Given the description of an element on the screen output the (x, y) to click on. 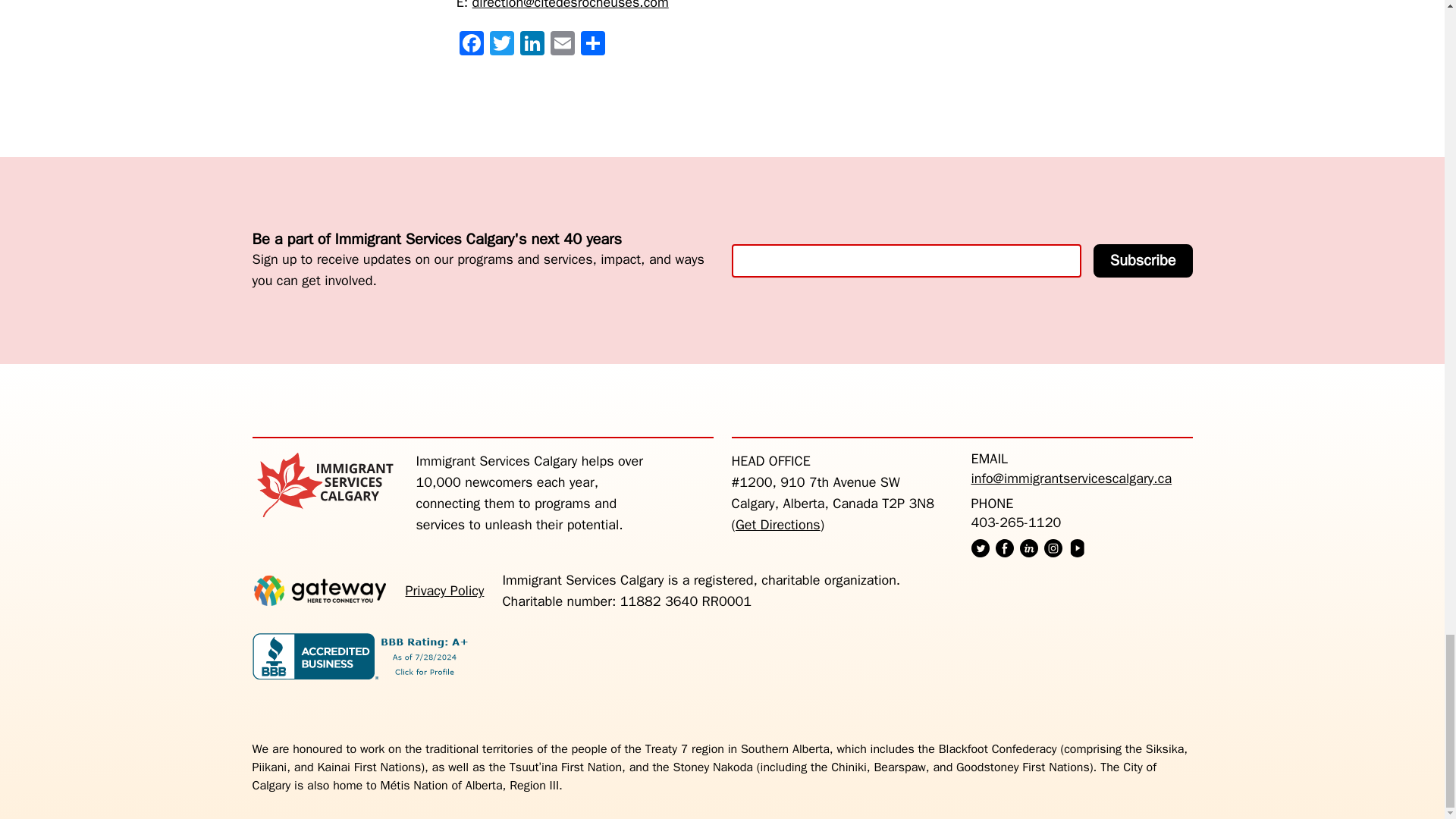
Subscribe (1142, 260)
Facebook (471, 45)
Email (562, 45)
LinkedIn (531, 45)
Twitter (501, 45)
